Given the description of an element on the screen output the (x, y) to click on. 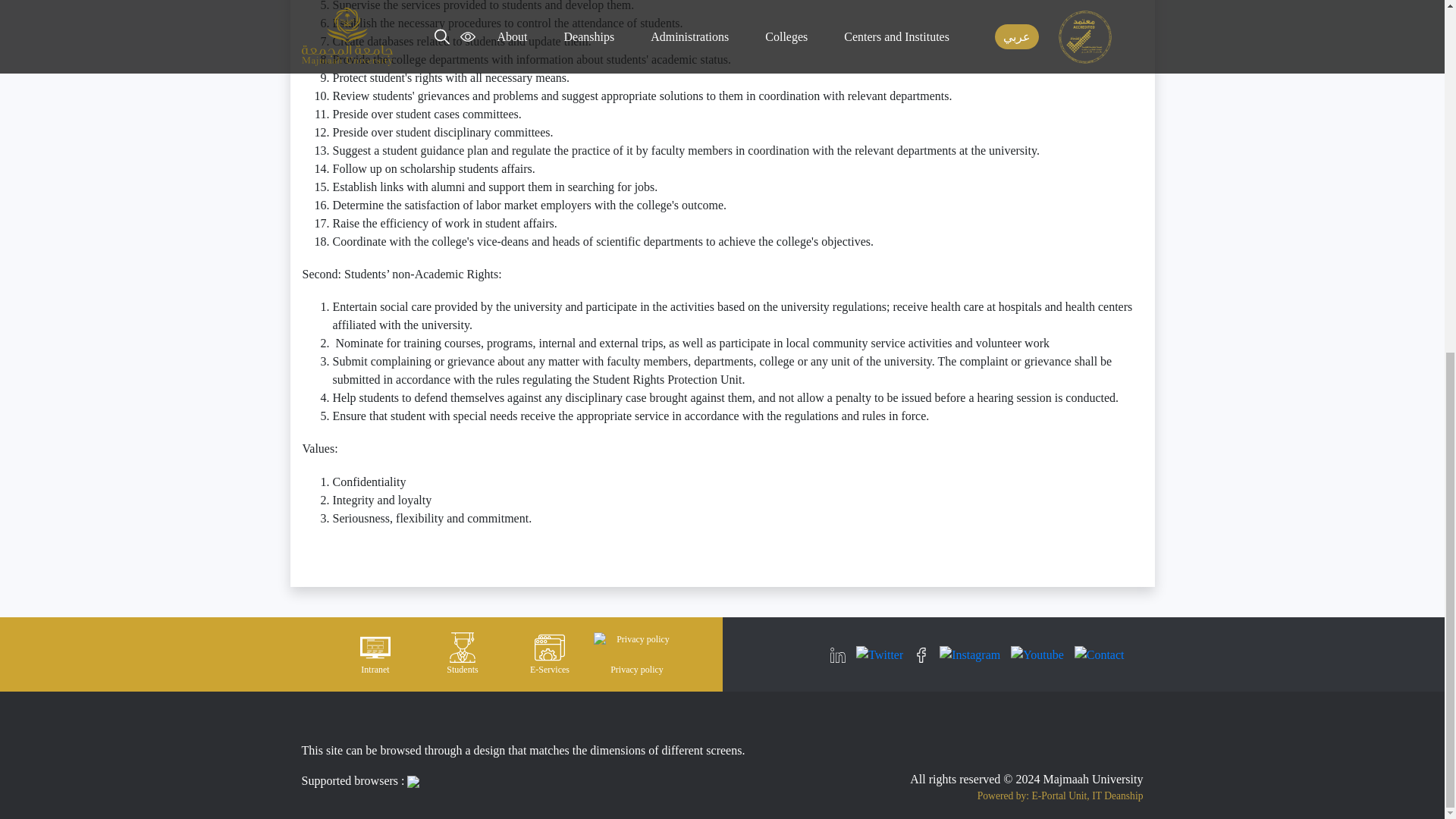
Google Store (1024, 743)
App Store (1104, 743)
